Given the description of an element on the screen output the (x, y) to click on. 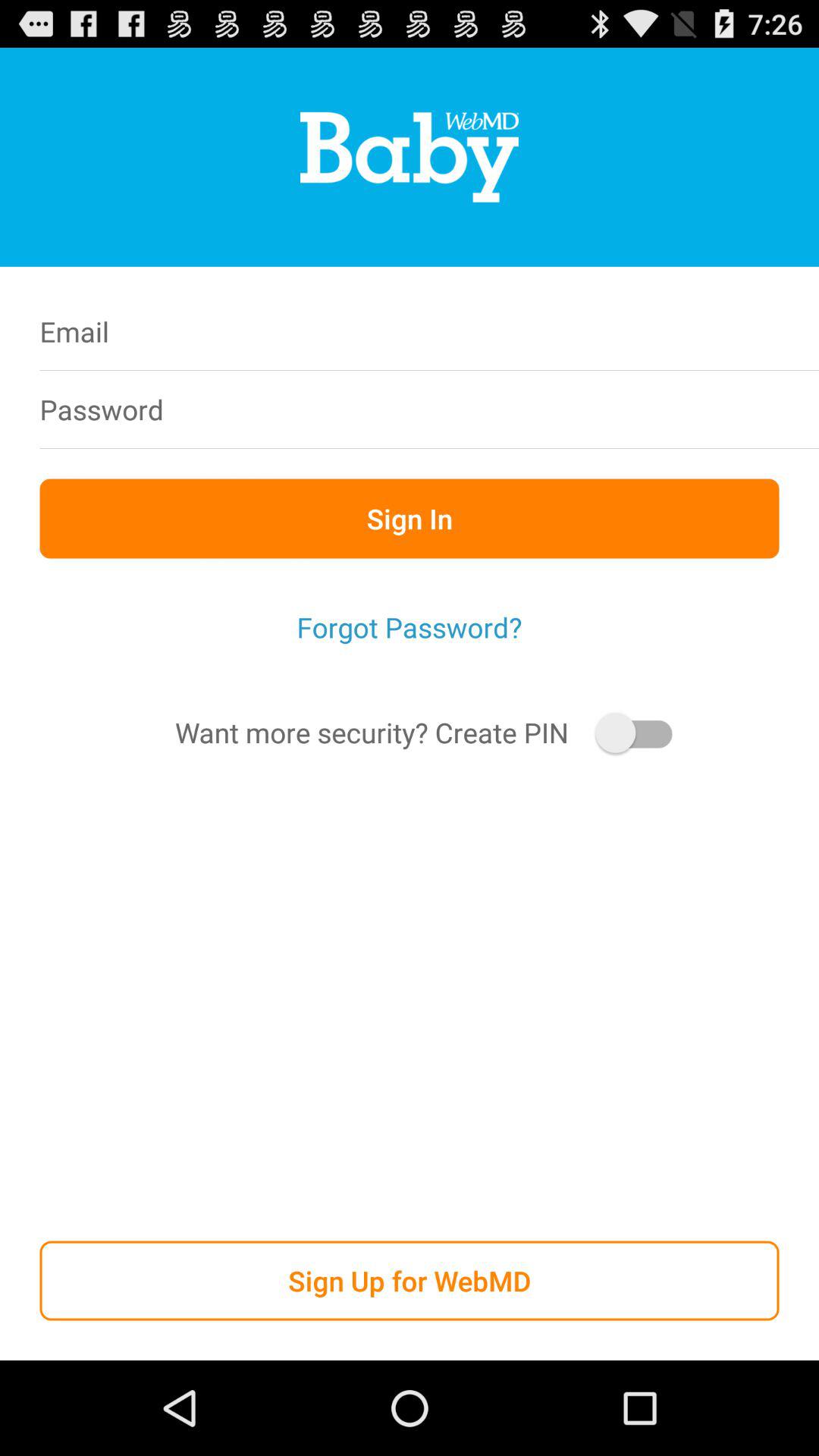
tap item above forgot password? icon (409, 518)
